Given the description of an element on the screen output the (x, y) to click on. 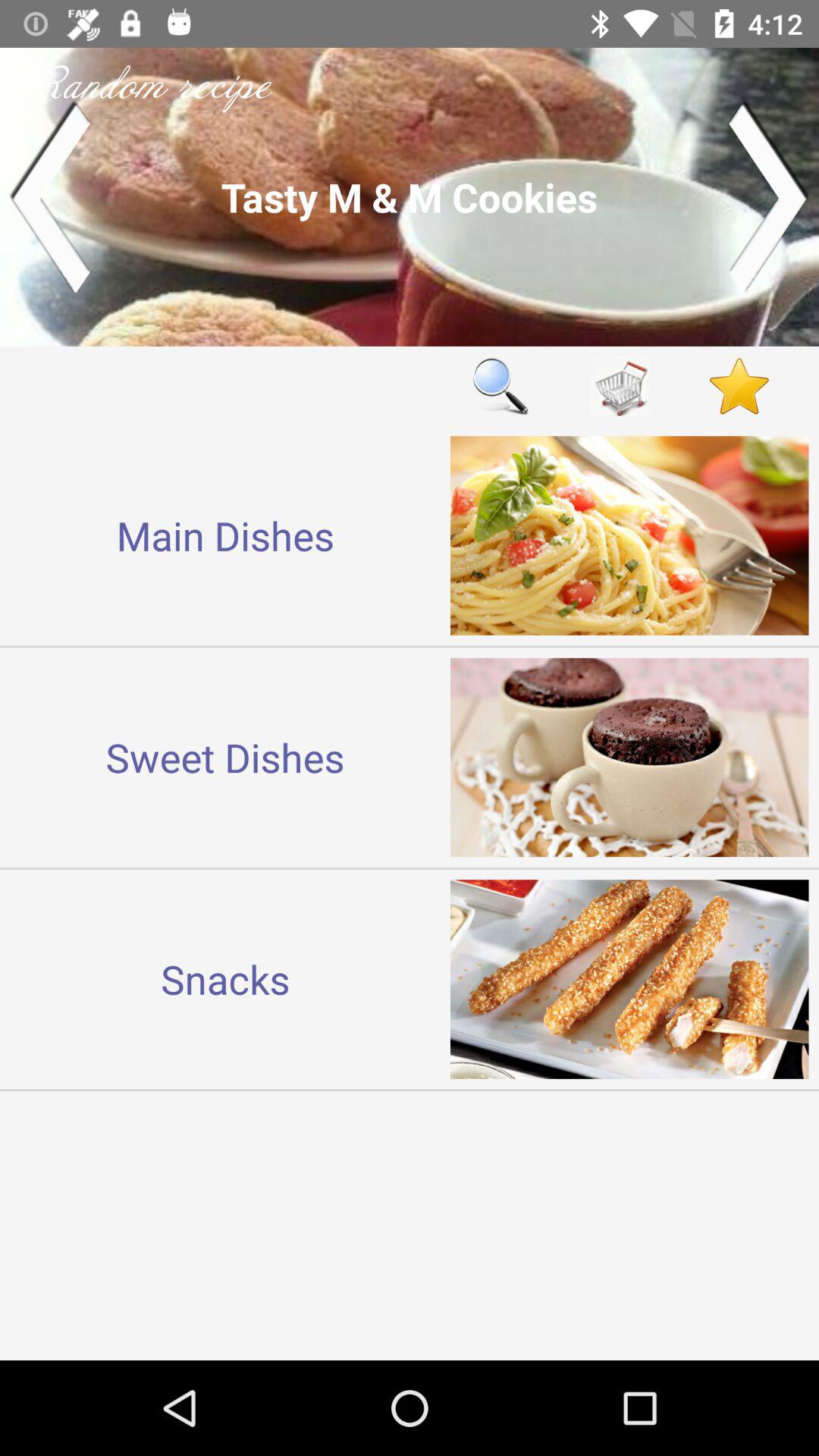
scroll until the sweet dishes (225, 756)
